Given the description of an element on the screen output the (x, y) to click on. 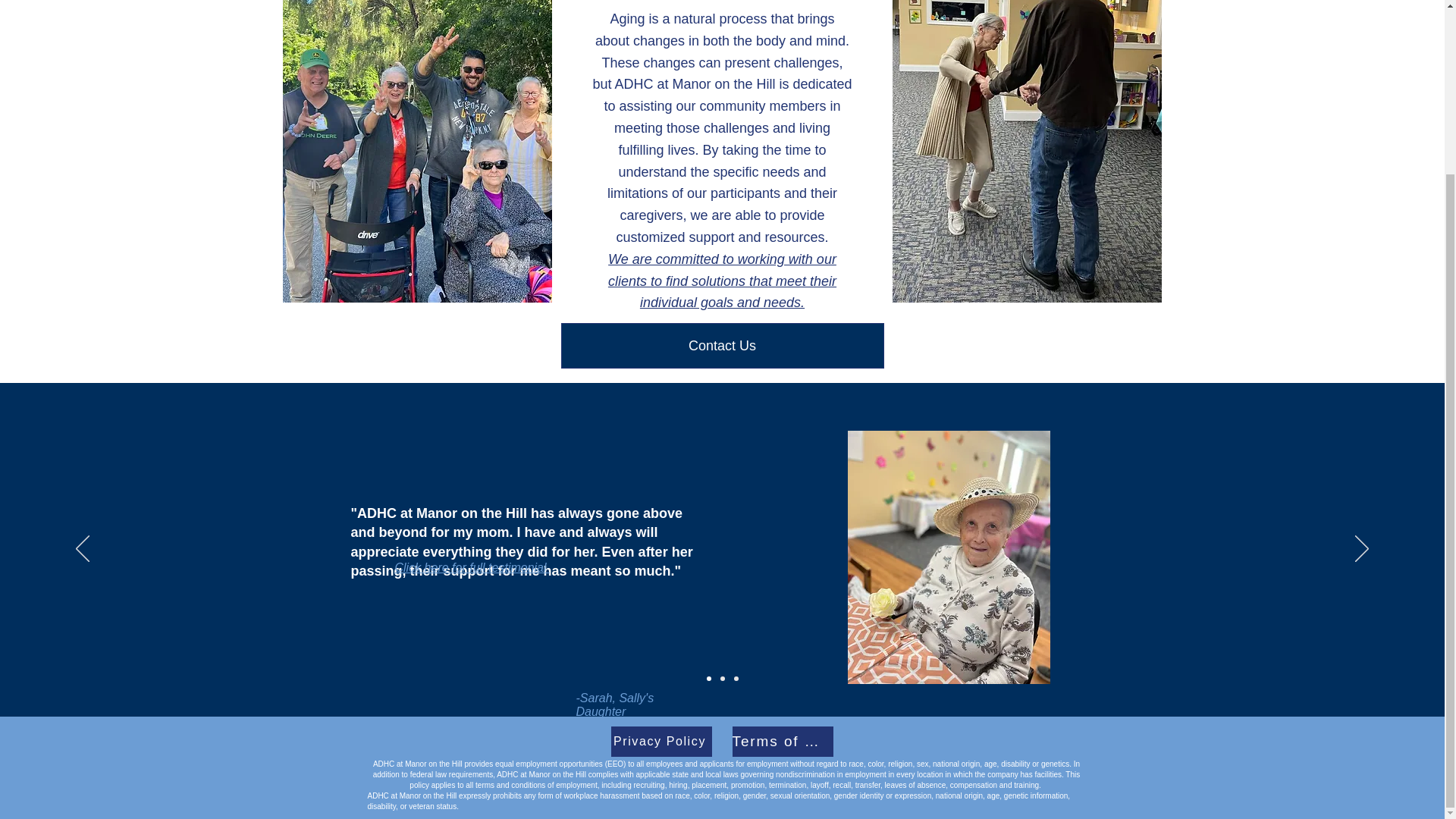
Privacy Policy (661, 741)
Contact Us (721, 345)
Terms of Use (782, 741)
Click here for full testimonial  (472, 567)
